Given the description of an element on the screen output the (x, y) to click on. 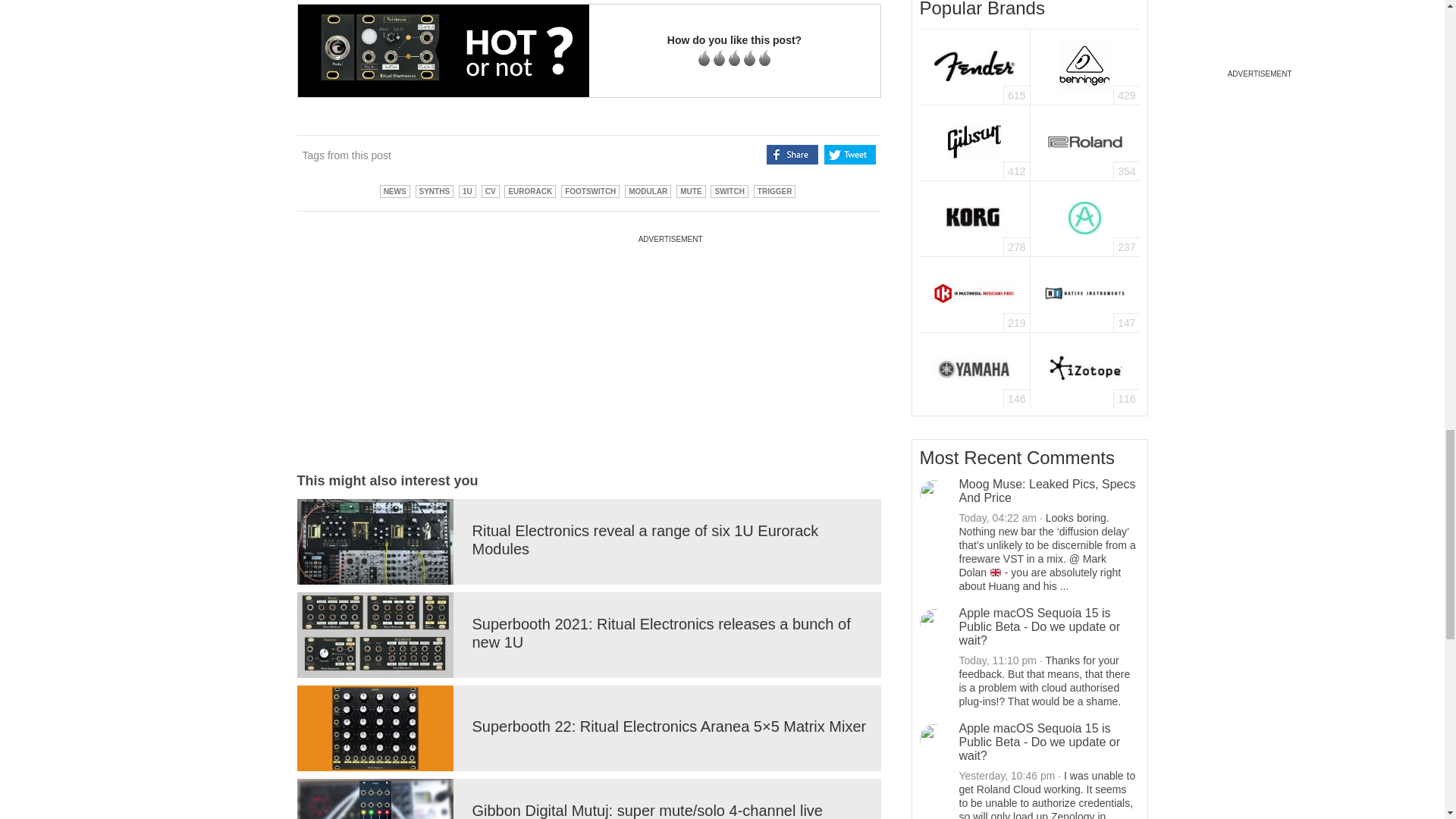
View all Posts in trigger (775, 191)
View all Posts in News (395, 191)
Share on Facebook (791, 154)
View all Posts in Mute (690, 191)
View all Posts in Modular (647, 191)
View all Posts in footswitch (590, 191)
Share on Twitter (850, 154)
View all Posts in 1U (467, 191)
View all Posts in CV (490, 191)
View all Posts in Synths (434, 191)
View all Posts in switch (729, 191)
View all Posts in Eurorack (529, 191)
